Given the description of an element on the screen output the (x, y) to click on. 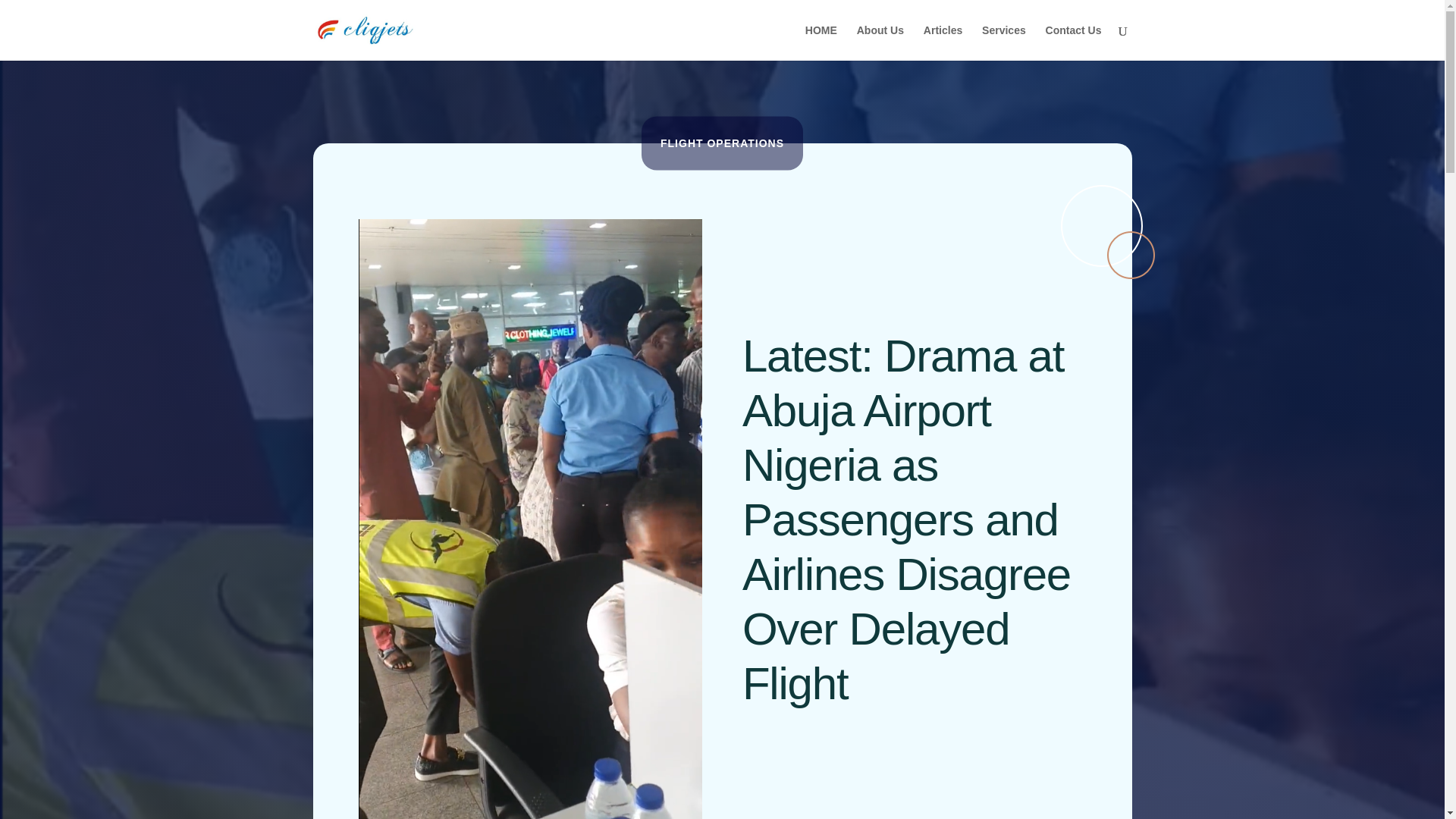
Contact Us (1073, 42)
FLIGHT OPERATIONS (722, 143)
About Us (880, 42)
Articles (942, 42)
NGO-img-26 (1107, 232)
Services (1003, 42)
HOME (821, 42)
